Given the description of an element on the screen output the (x, y) to click on. 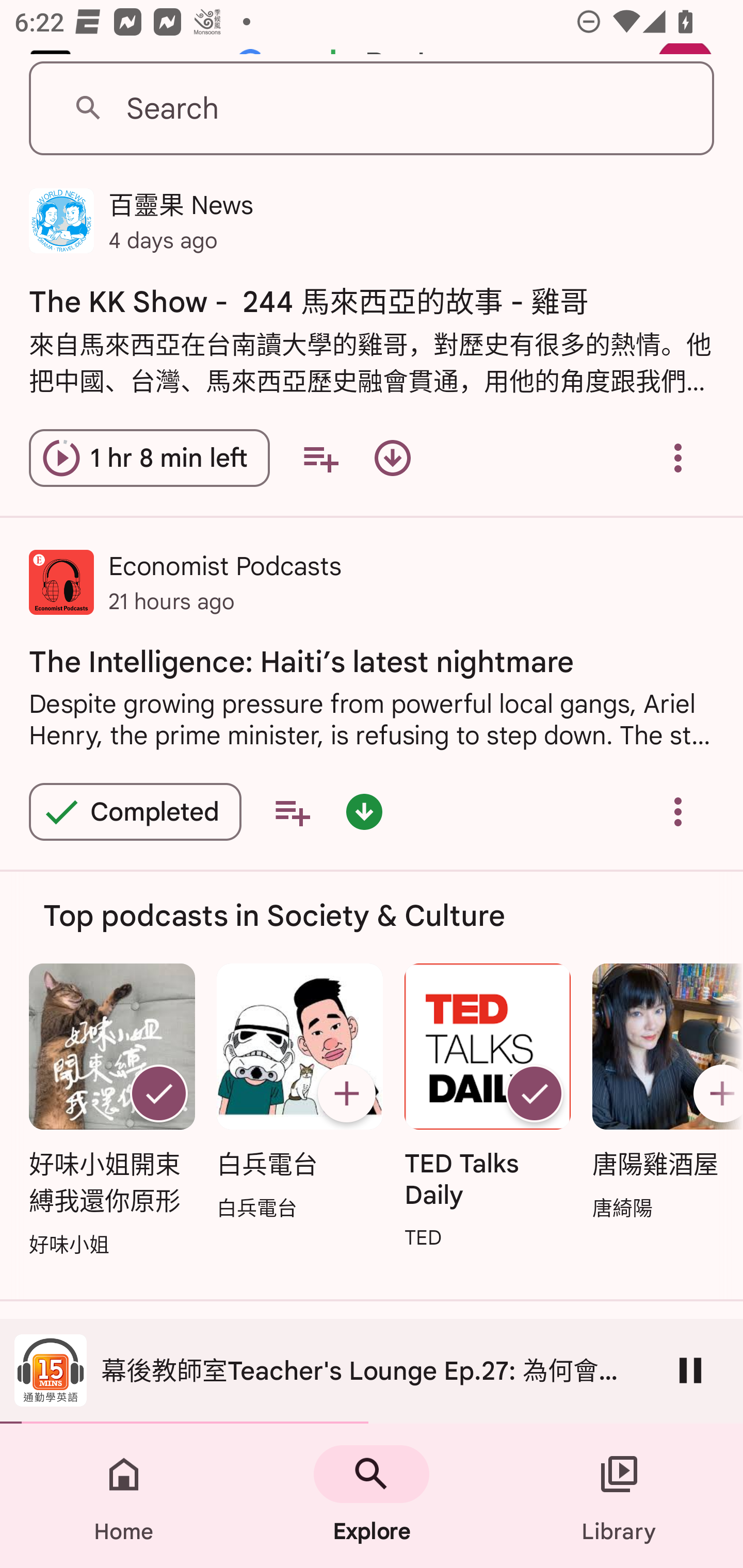
Search (371, 108)
Add to your queue (320, 457)
Download episode (392, 457)
Overflow menu (677, 457)
Add to your queue (291, 811)
Episode downloaded - double tap for options (364, 811)
Overflow menu (677, 811)
好味小姐開束縛我還你原形 Unsubscribe 好味小姐開束縛我還你原形 好味小姐 (111, 1111)
白兵電台 Subscribe 白兵電台 白兵電台 (299, 1093)
TED Talks Daily Unsubscribe TED Talks Daily TED (487, 1108)
唐陽雞酒屋 Subscribe 唐陽雞酒屋 唐綺陽 (662, 1093)
Unsubscribe (158, 1092)
Subscribe (346, 1092)
Unsubscribe (534, 1092)
Subscribe (714, 1092)
Pause (690, 1370)
Home (123, 1495)
Library (619, 1495)
